Given the description of an element on the screen output the (x, y) to click on. 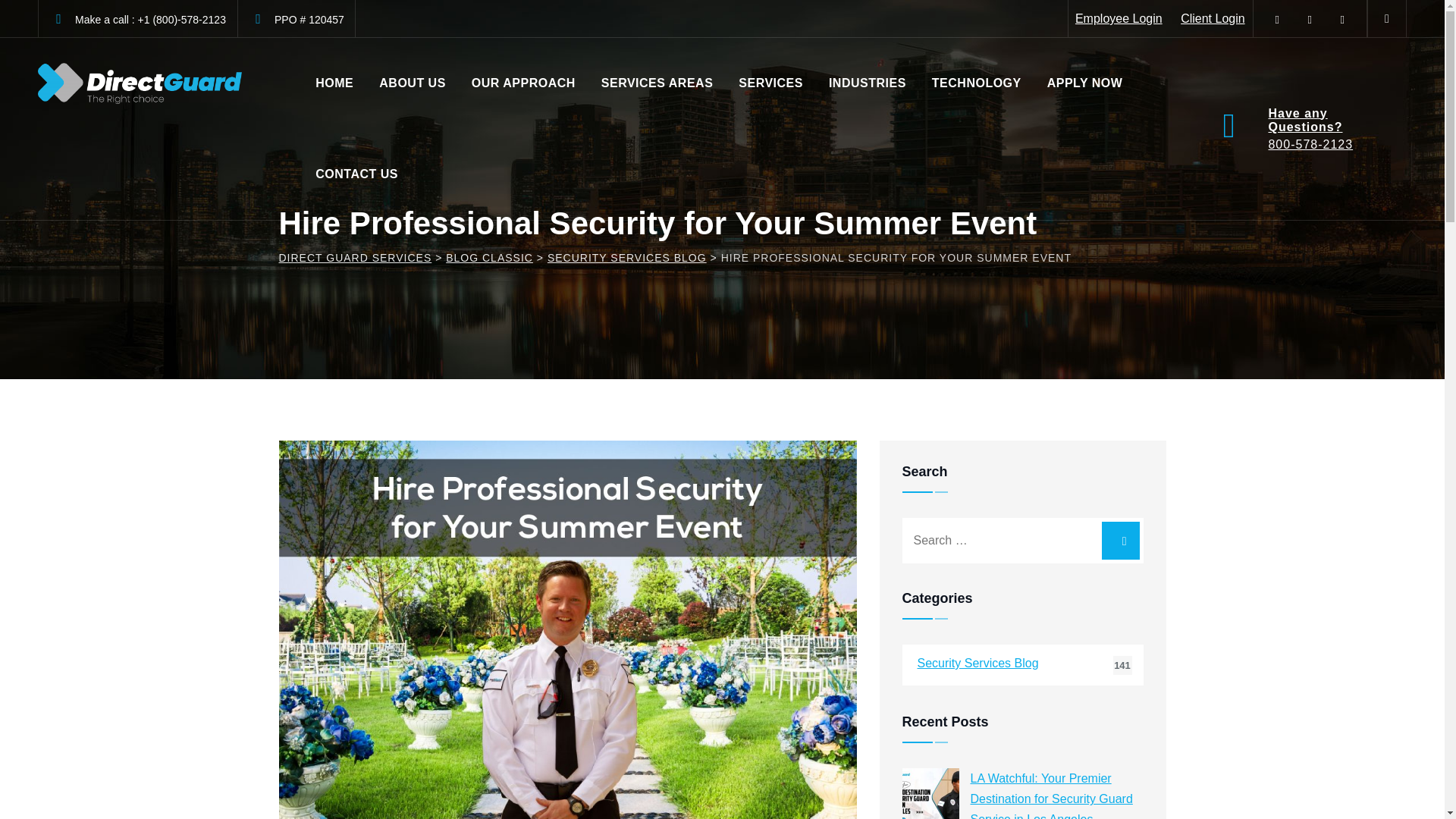
Go to the Security Services Blog Category archives. (626, 257)
Employee Login (1118, 18)
Go to Blog Classic. (488, 257)
Direct Guard Services (139, 83)
OUR APPROACH (523, 82)
Go to Direct Guard Services. (355, 257)
Client Login (1212, 18)
SERVICES AREAS (657, 82)
